Given the description of an element on the screen output the (x, y) to click on. 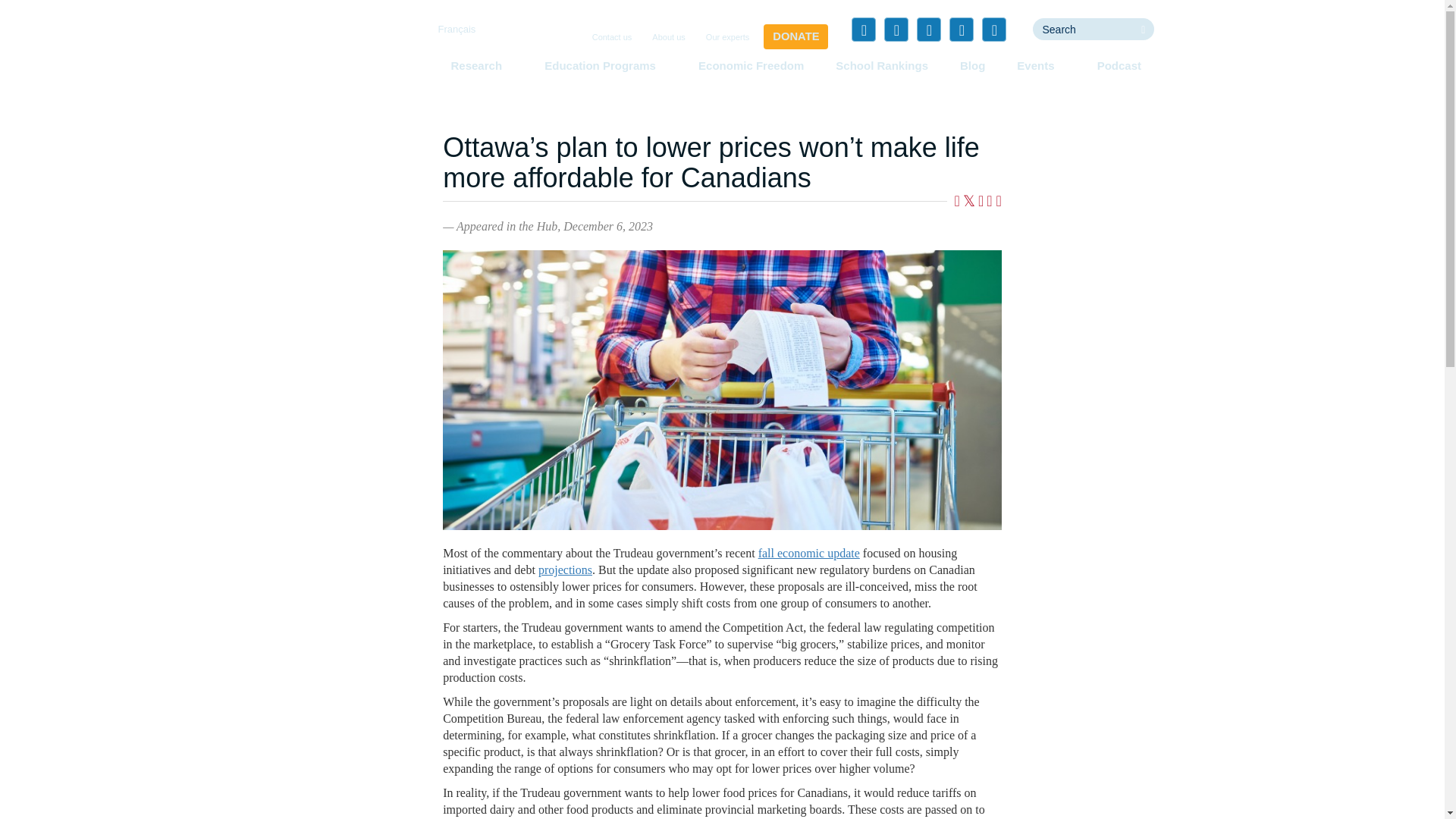
Research (481, 65)
YouTube (961, 29)
School Rankings (882, 65)
Instagram (993, 29)
Twitter (895, 29)
About us (668, 37)
Home (352, 56)
LinkedIn (928, 29)
Enter the terms you wish to search for. (1082, 29)
